Given the description of an element on the screen output the (x, y) to click on. 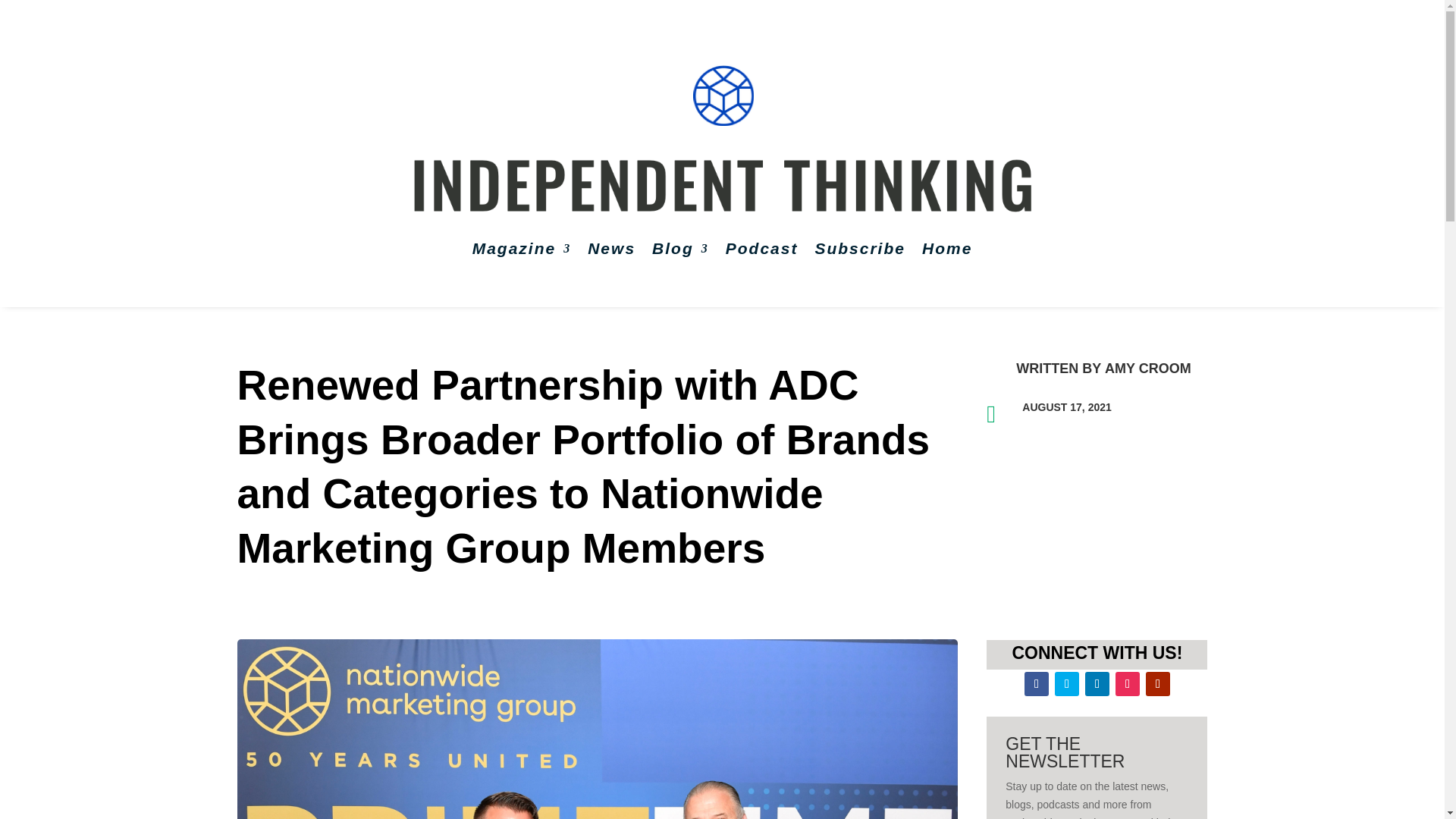
Follow on LinkedIn (1096, 683)
AMY CROOM (1148, 368)
Follow on Youtube (1157, 683)
Follow on Instagram (1127, 683)
Blog (680, 248)
Podcast (761, 248)
Follow on Twitter (1066, 683)
Follow on Facebook (1036, 683)
Magazine (521, 248)
Subscribe (859, 248)
